Given the description of an element on the screen output the (x, y) to click on. 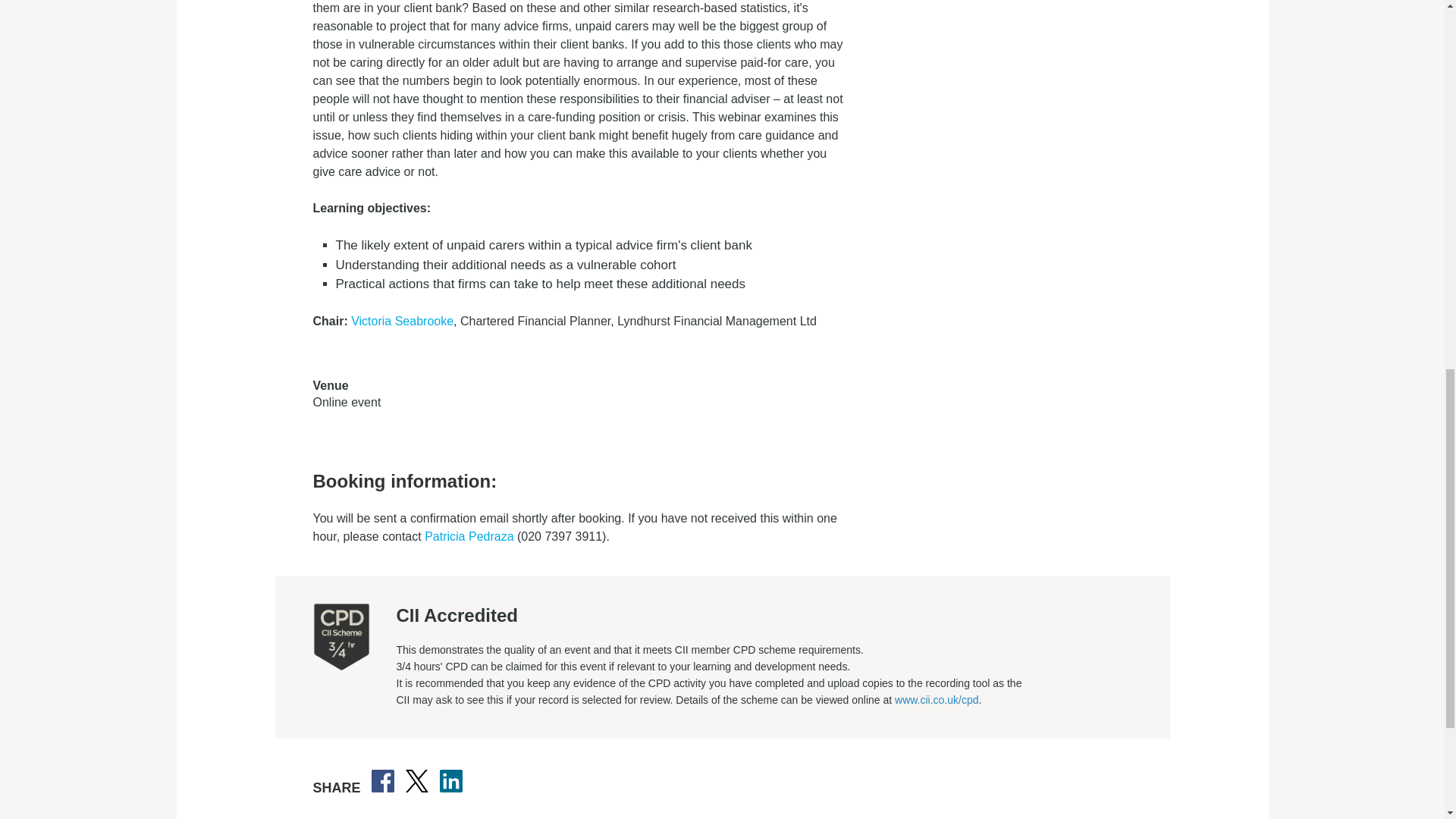
Patricia Pedraza (469, 536)
Victoria Seabrooke (401, 321)
